Given the description of an element on the screen output the (x, y) to click on. 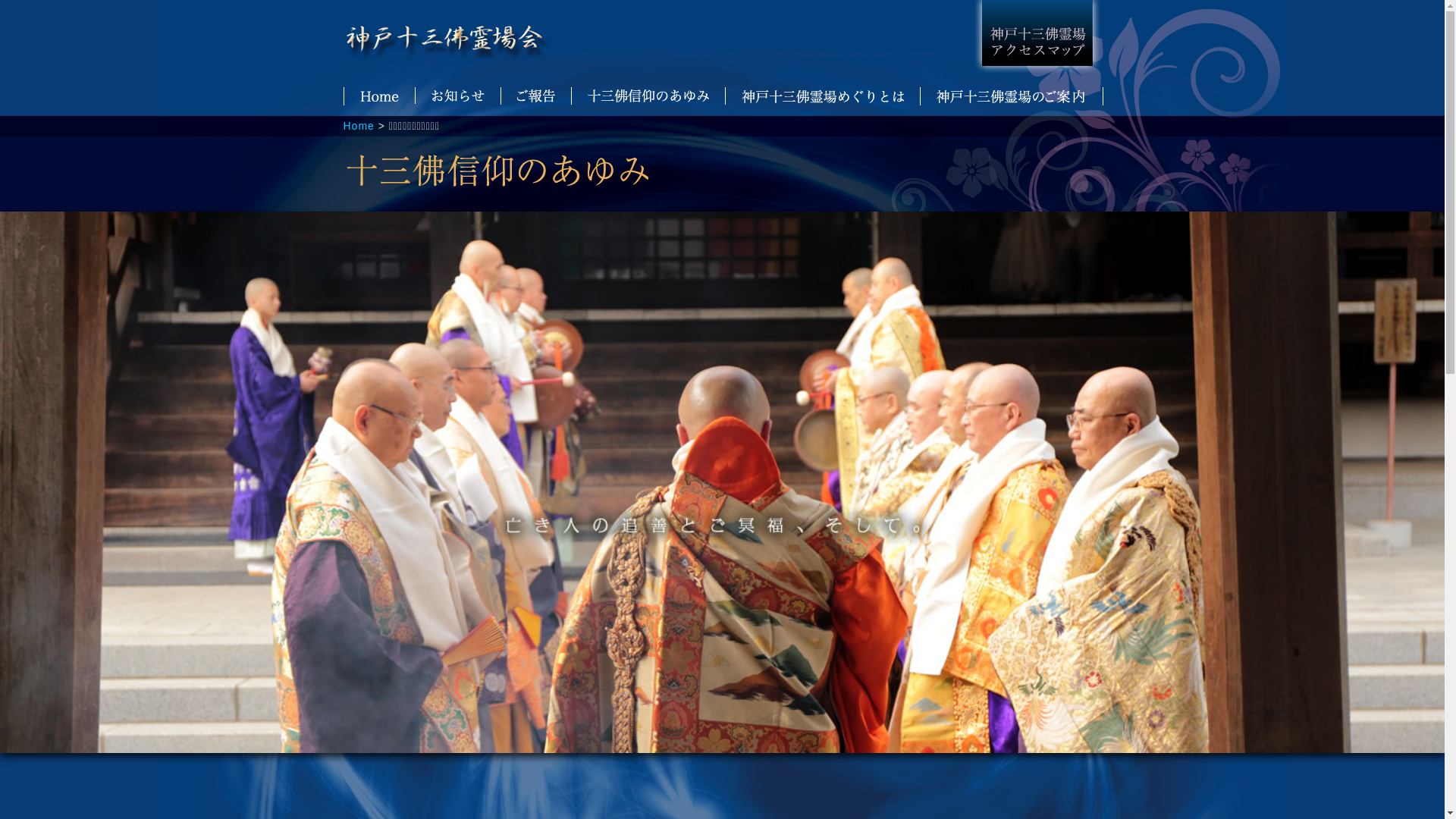
Home Element type: text (357, 125)
